Given the description of an element on the screen output the (x, y) to click on. 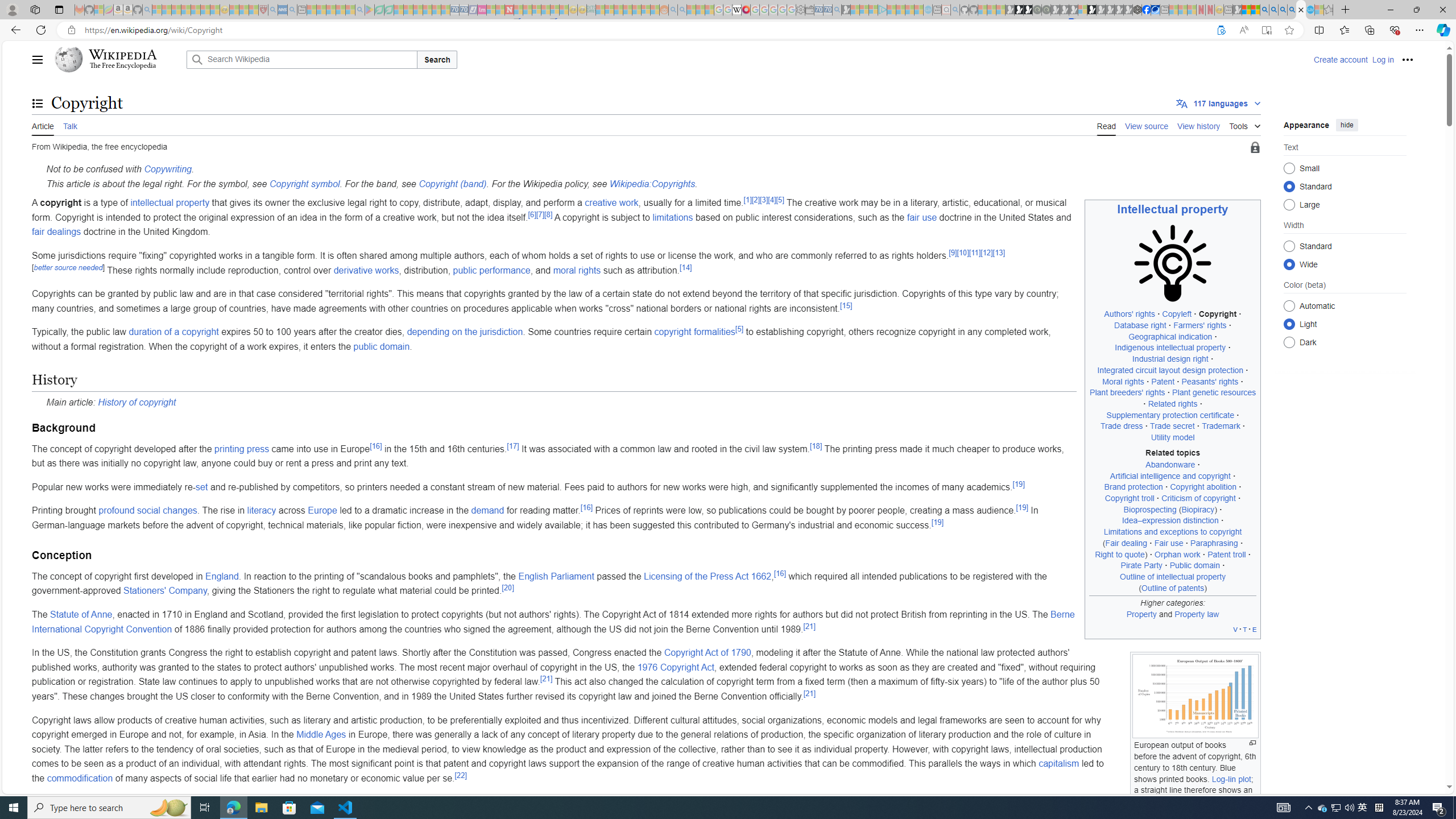
Class: mw-list-item mw-list-item-js (1345, 323)
Settings - Sleeping (799, 9)
Address and search bar (647, 29)
[20] (507, 587)
intellectual property (169, 203)
Related topics (1172, 452)
Intellectual property (1172, 208)
[2] (755, 198)
Public domain (1194, 565)
Microsoft-Report a Concern to Bing - Sleeping (98, 9)
Copyright abolition (1203, 487)
Bing Real Estate - Home sales and rental listings - Sleeping (836, 9)
